Given the description of an element on the screen output the (x, y) to click on. 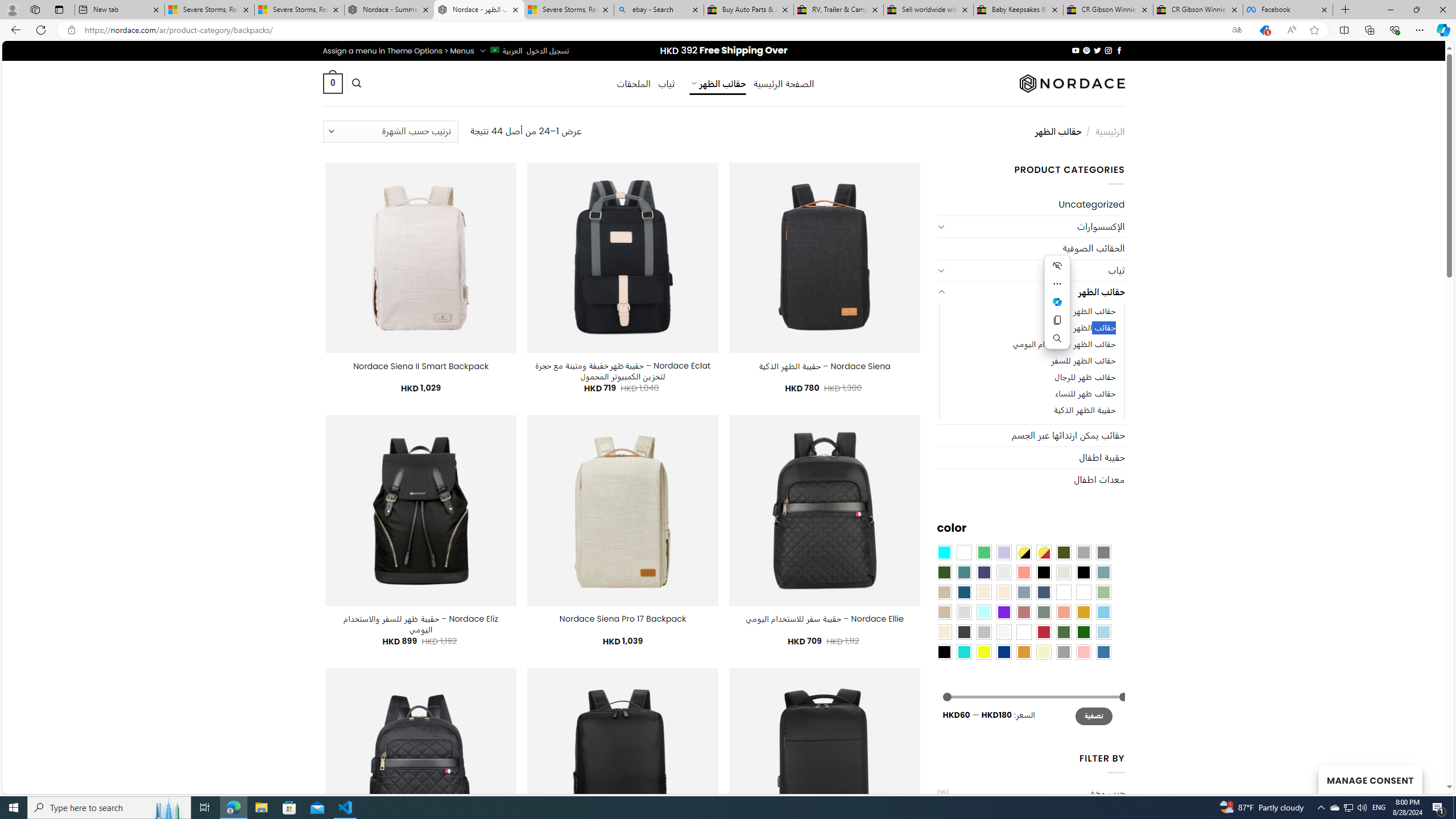
Uncategorized (1030, 204)
Nordace Siena Pro 17 Backpack (622, 618)
Mint (983, 611)
Blue Sage (1103, 572)
Facebook (1287, 9)
Hale Navy (1043, 591)
